Given the description of an element on the screen output the (x, y) to click on. 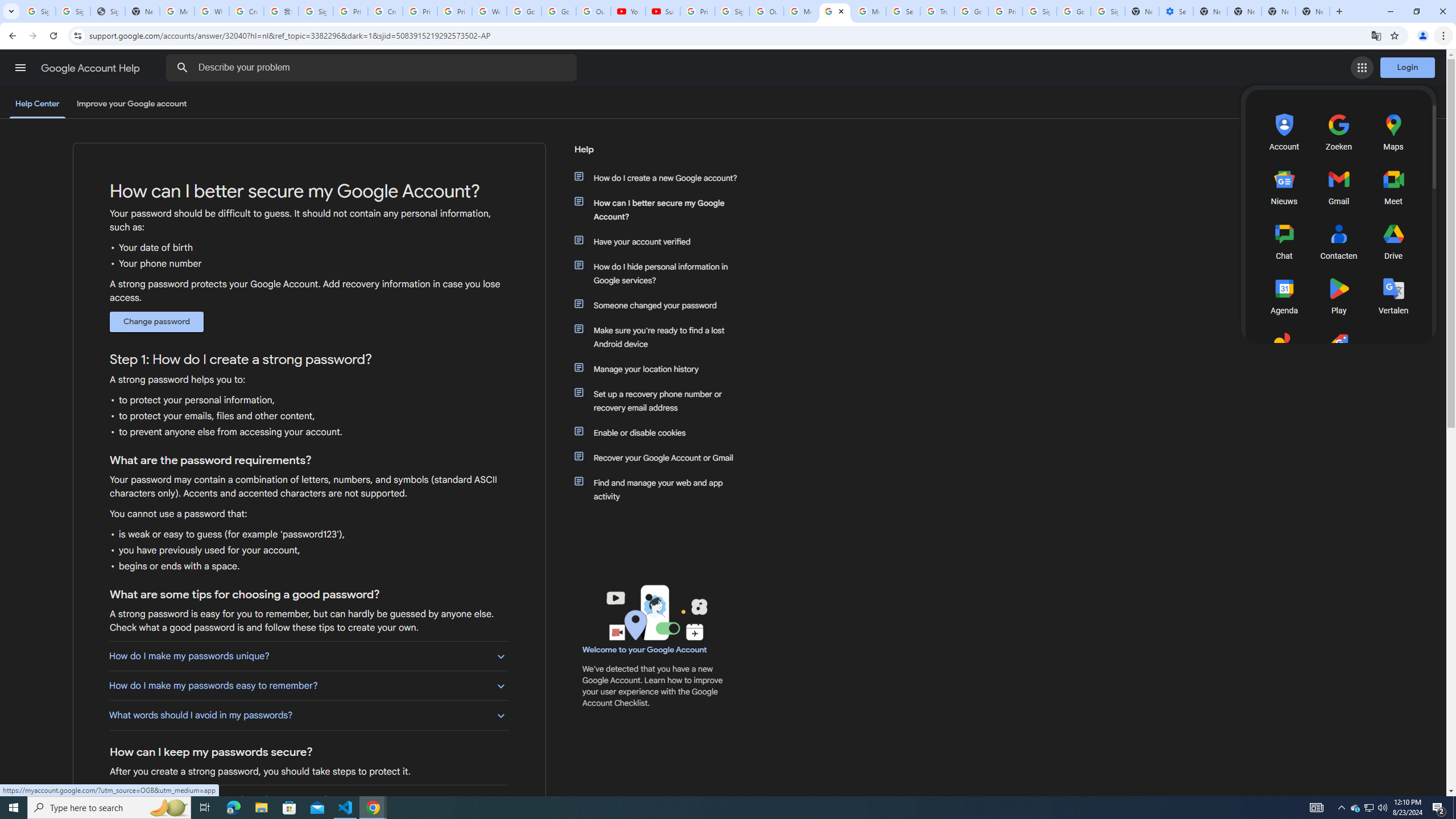
YouTube (627, 11)
Google Account Help (91, 68)
Create your Google Account (246, 11)
New Tab (1312, 11)
Sign In - USA TODAY (107, 11)
Improve your Google account (131, 103)
Translate this page (1376, 35)
Someone changed your password (661, 305)
Google Account (557, 11)
Change password (156, 322)
